Given the description of an element on the screen output the (x, y) to click on. 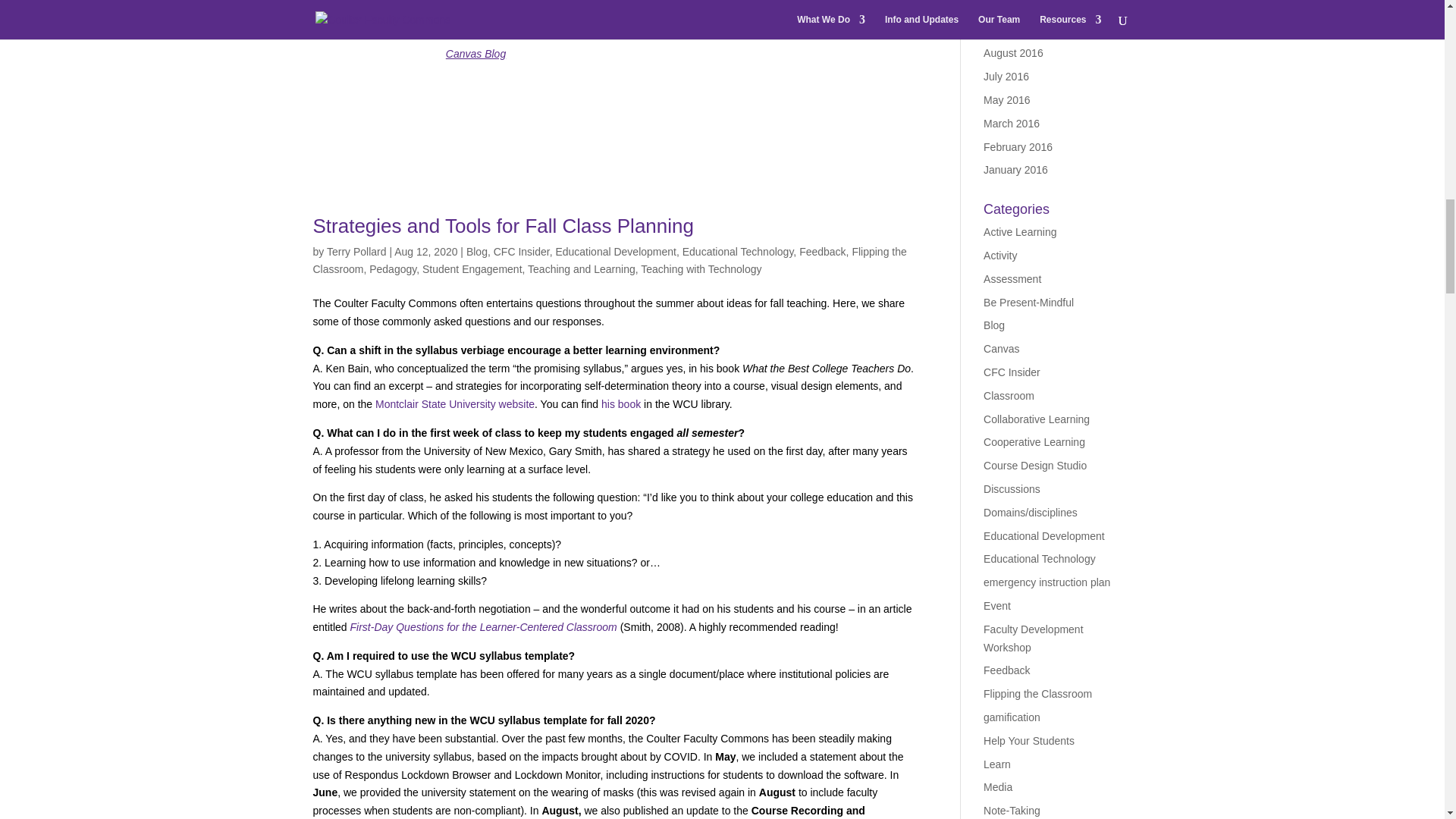
Posts by Terry Pollard (356, 251)
Strategies and Tools for Fall Class Planning (503, 225)
Canvas Blog (475, 53)
